Given the description of an element on the screen output the (x, y) to click on. 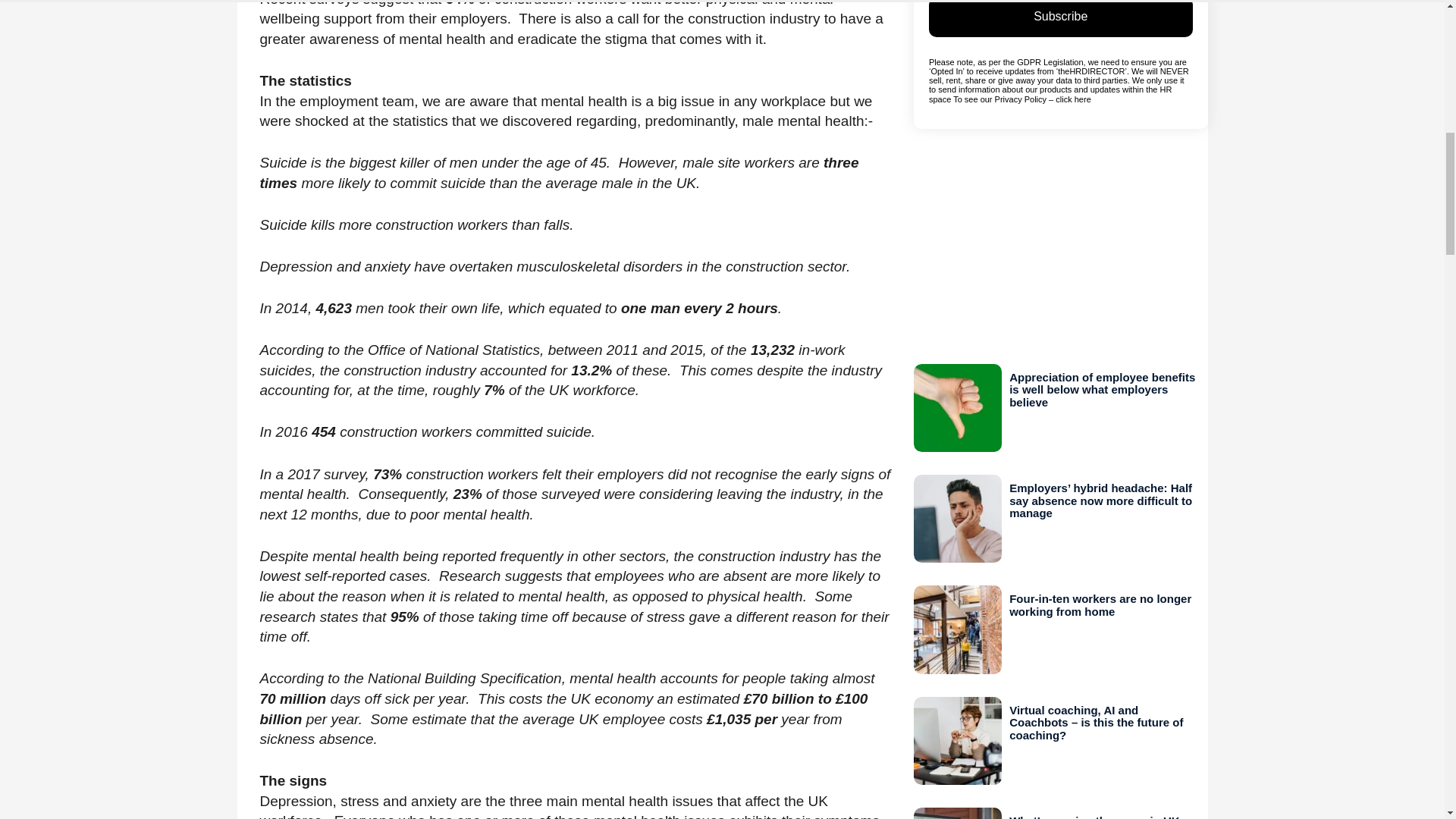
3rd party ad content (1061, 246)
